Given the description of an element on the screen output the (x, y) to click on. 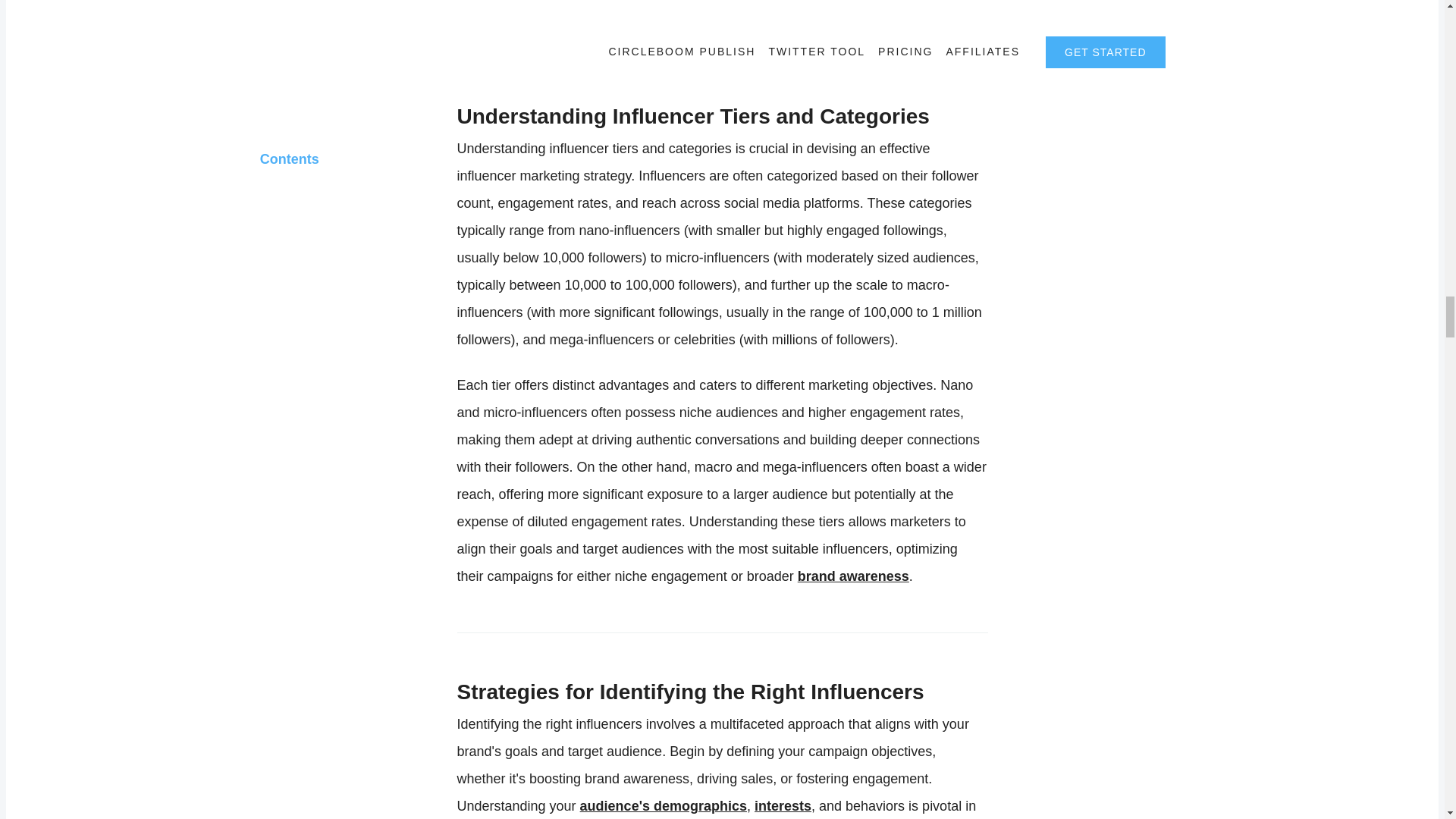
interests (782, 806)
audience's demographics (662, 806)
brand awareness (852, 575)
